Given the description of an element on the screen output the (x, y) to click on. 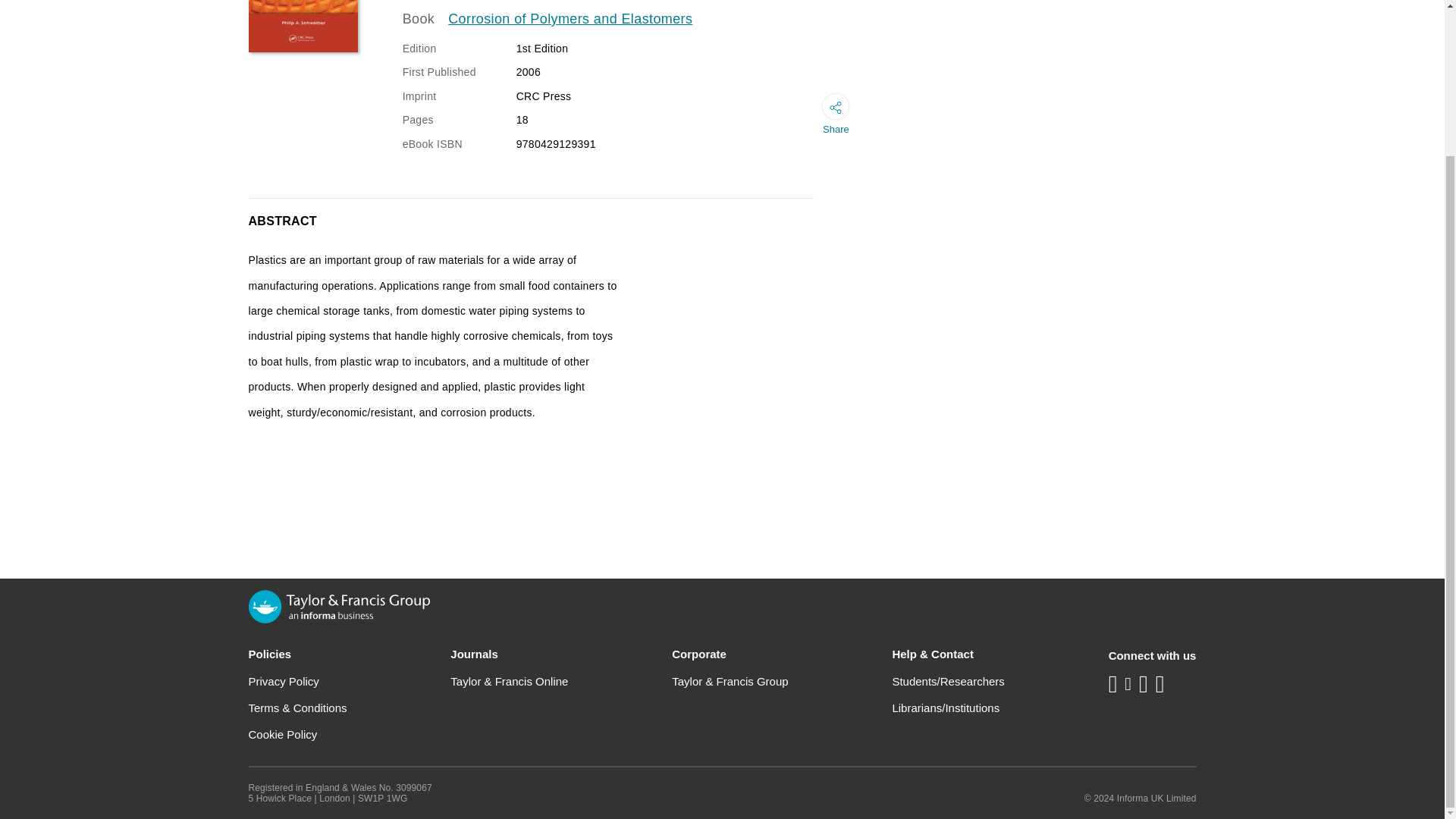
Introduction to Polymers (303, 26)
Privacy Policy (283, 681)
Corrosion of Polymers and Elastomers (570, 19)
Cookie Policy (282, 734)
